Given the description of an element on the screen output the (x, y) to click on. 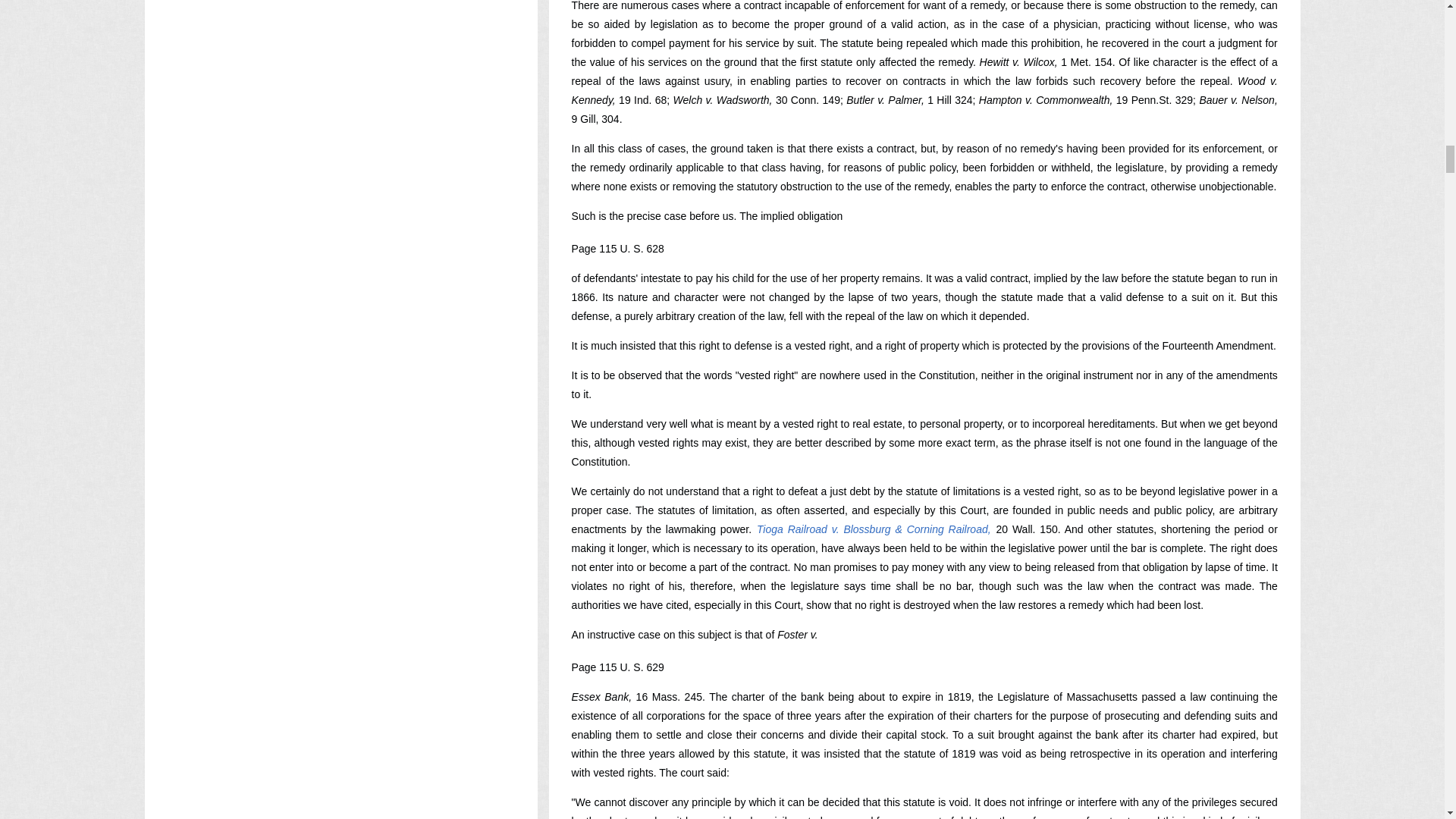
Page 115 U. S. 629 (617, 666)
Page 115 U. S. 628 (617, 248)
